Given the description of an element on the screen output the (x, y) to click on. 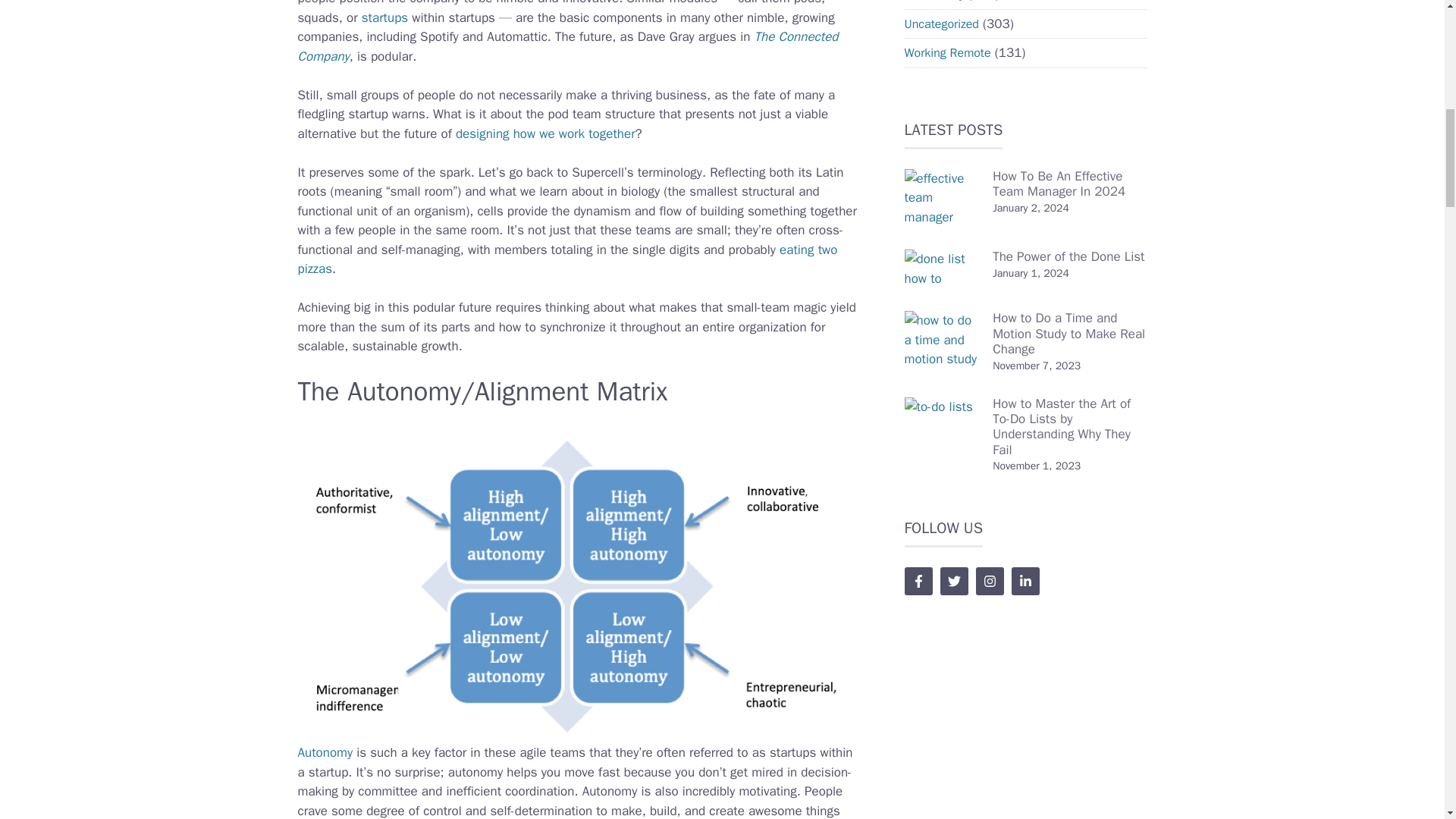
designing how we work together (544, 133)
Autonomy (324, 752)
eating two pizzas (567, 258)
The Connected Company (567, 46)
startups (384, 17)
